Given the description of an element on the screen output the (x, y) to click on. 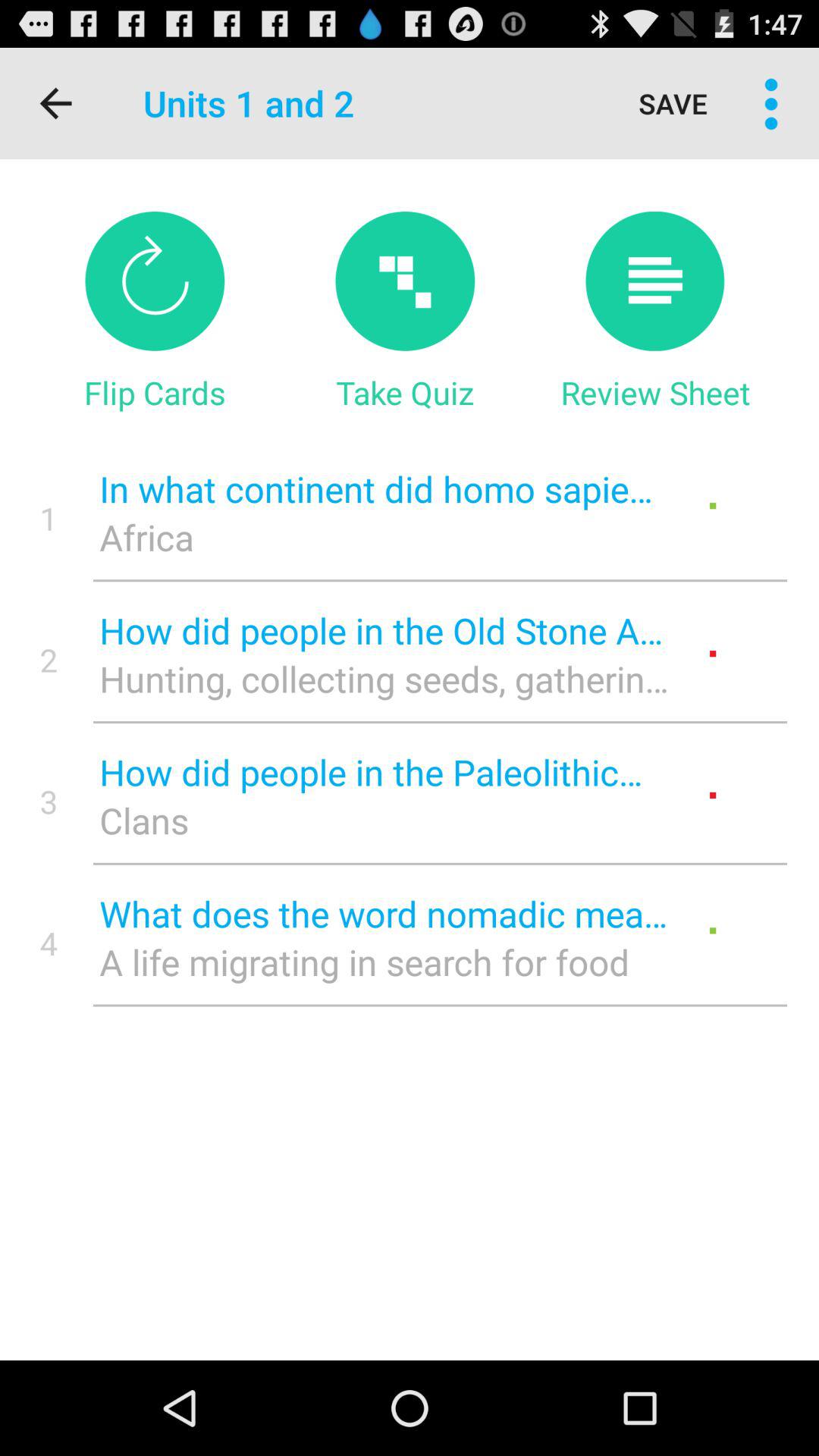
click the icon above take quiz (404, 280)
